Given the description of an element on the screen output the (x, y) to click on. 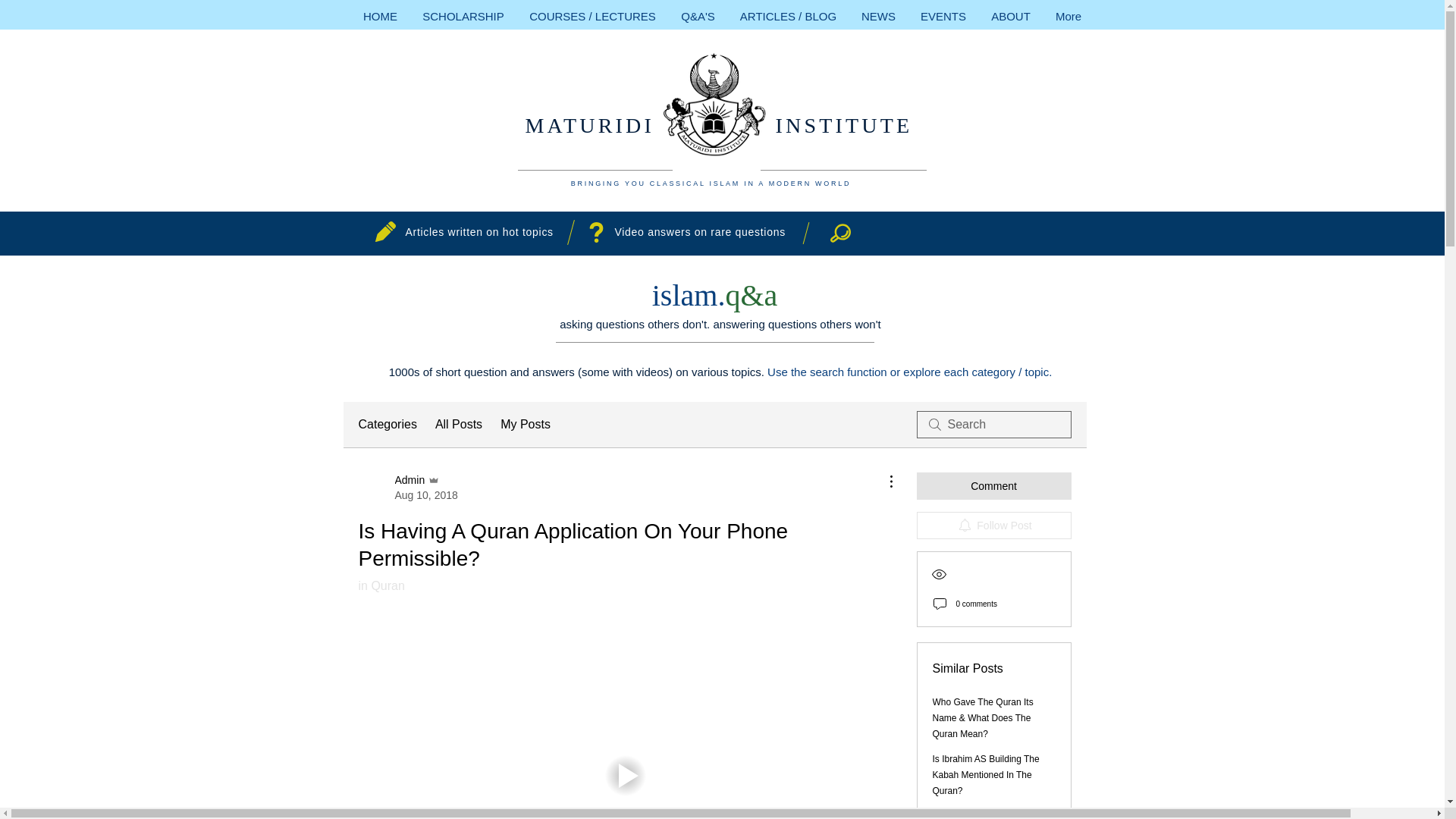
Categories (387, 424)
in Quran (381, 585)
SCHOLARSHIP (462, 16)
NEWS (878, 16)
My Posts (525, 424)
All Posts (458, 424)
EVENTS (943, 16)
Video answers on rare questions (699, 232)
ABOUT (1010, 16)
HOME (379, 16)
Articles written on hot topics (478, 232)
